Given the description of an element on the screen output the (x, y) to click on. 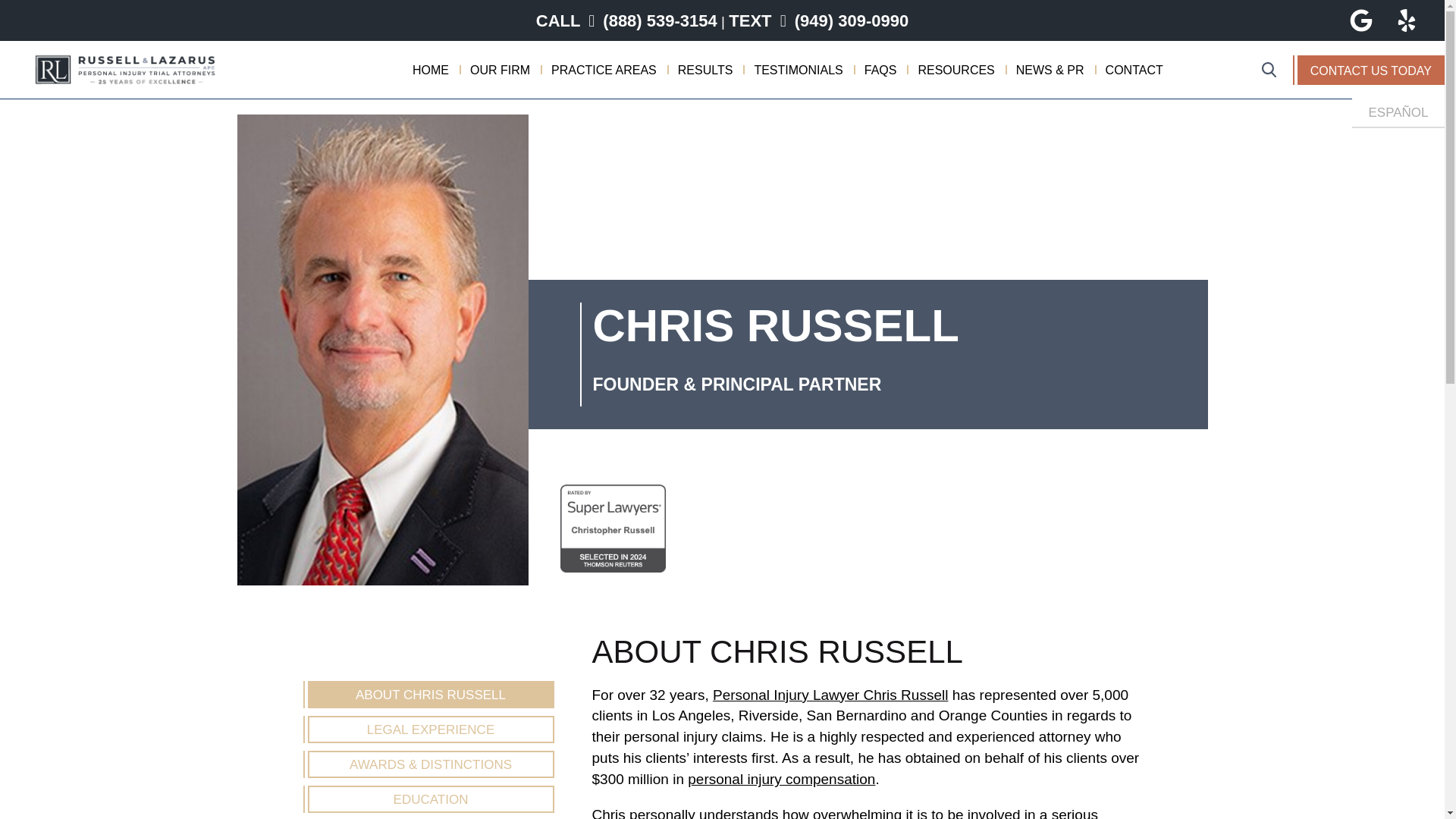
PRACTICE AREAS (603, 69)
HOME (430, 69)
OUR FIRM (499, 69)
